Given the description of an element on the screen output the (x, y) to click on. 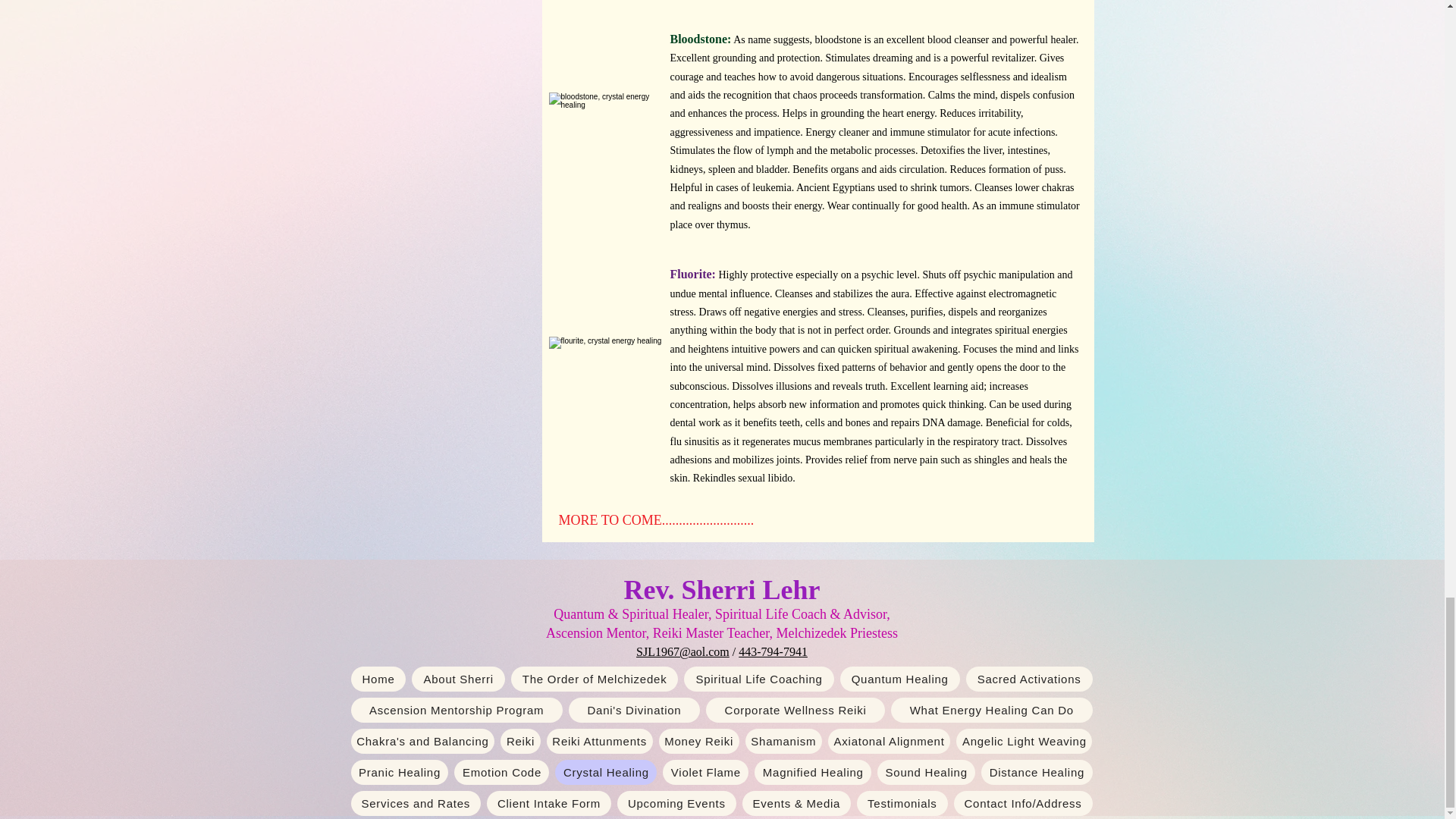
Home (378, 678)
The Order of Melchizedek (594, 678)
Sacred Activations (1029, 678)
Spiritual Life Coaching (758, 678)
443-794-7941 (773, 651)
About Sherri (457, 678)
Quantum Healing (899, 678)
